Given the description of an element on the screen output the (x, y) to click on. 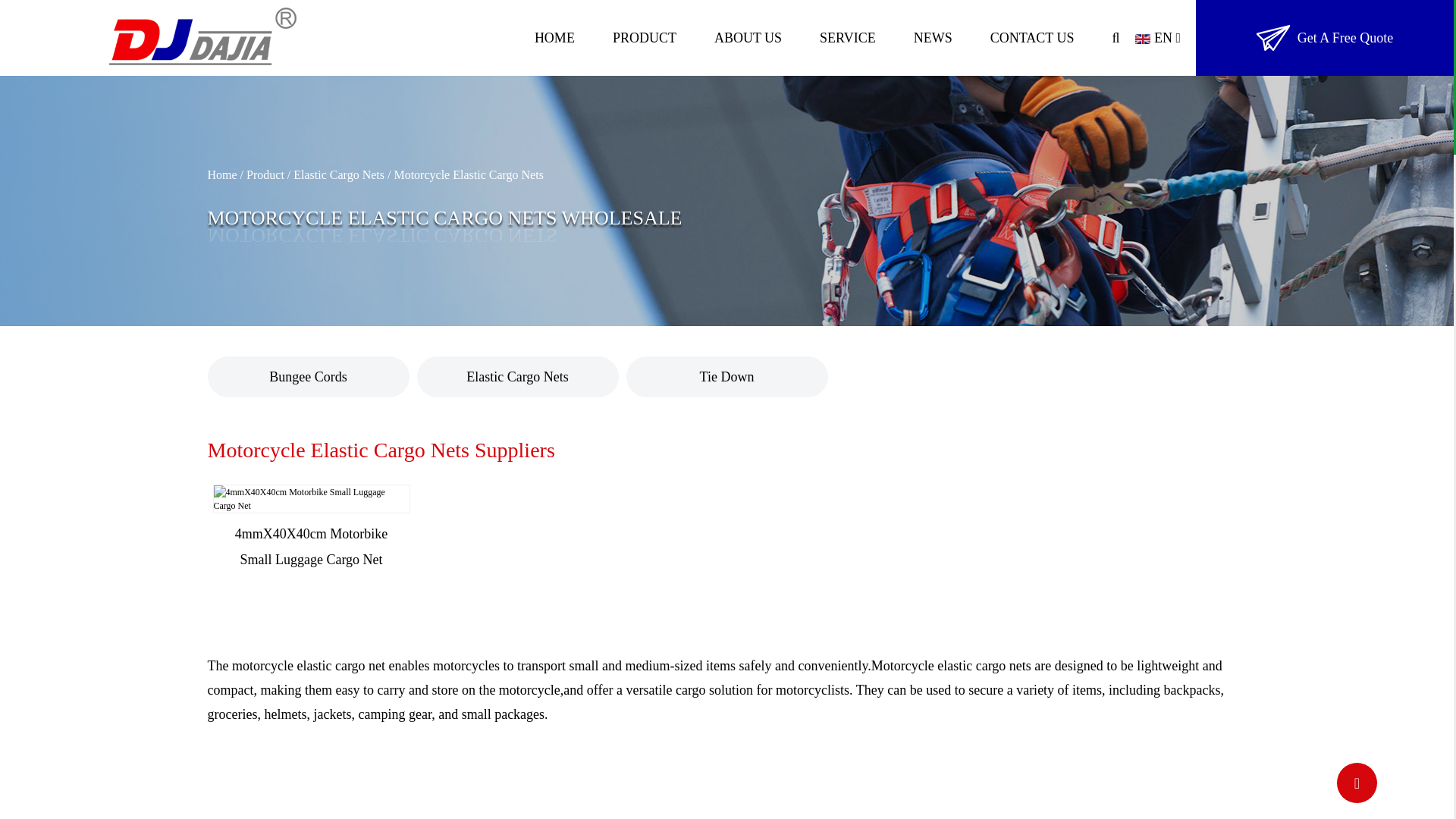
CONTACT US (1032, 37)
4mmX40X40cm Motorbike Small Luggage Cargo Net (311, 498)
ABOUT US (747, 37)
